Given the description of an element on the screen output the (x, y) to click on. 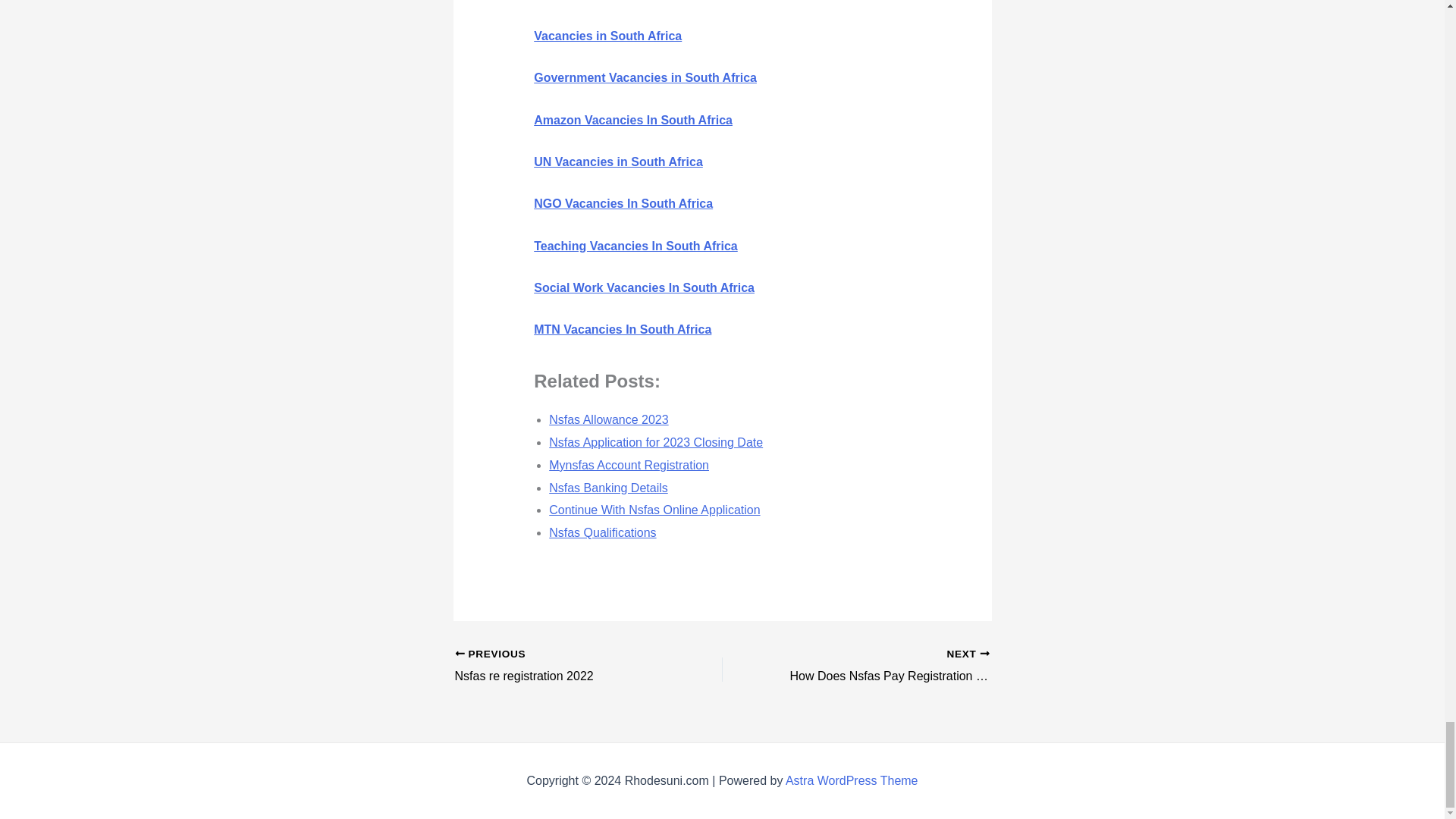
Nsfas re registration 2022 (561, 666)
How Does Nsfas Pay Registration Fee (882, 666)
